Given the description of an element on the screen output the (x, y) to click on. 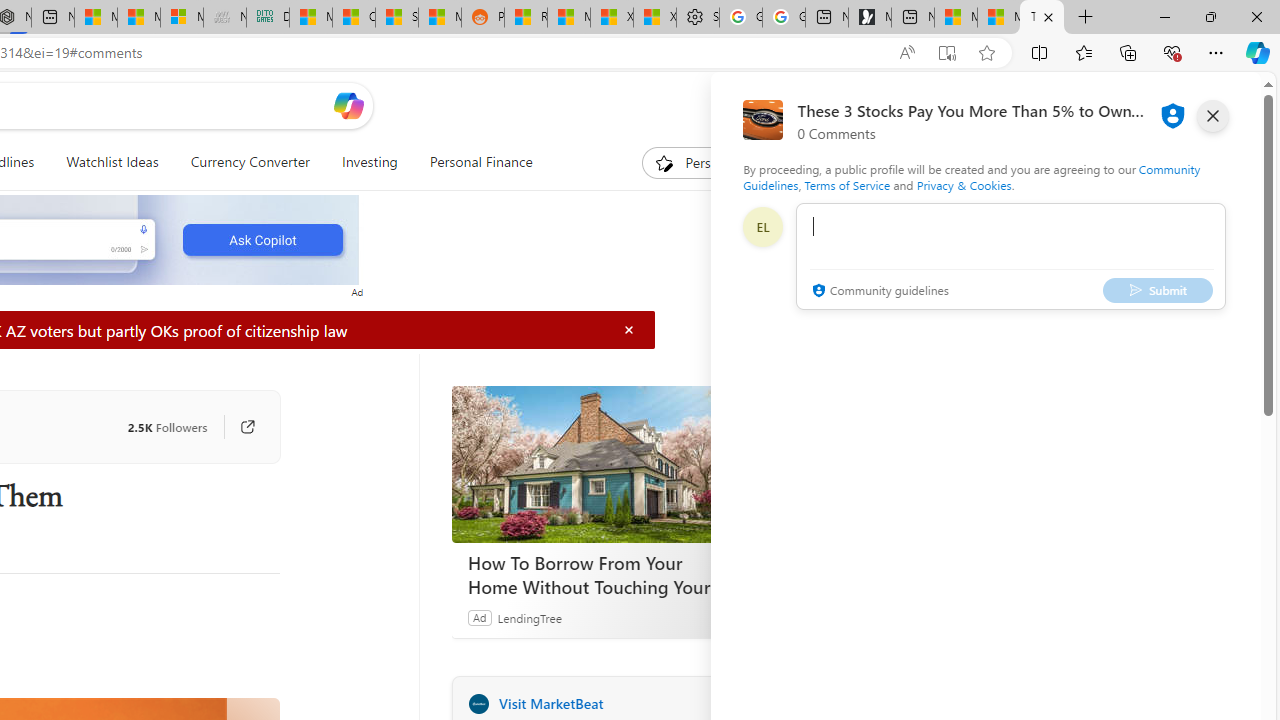
Personal Finance (472, 162)
Visit MarketBeat website (726, 703)
Hide (629, 329)
Terms of Service (846, 184)
Currency Converter (250, 162)
